Given the description of an element on the screen output the (x, y) to click on. 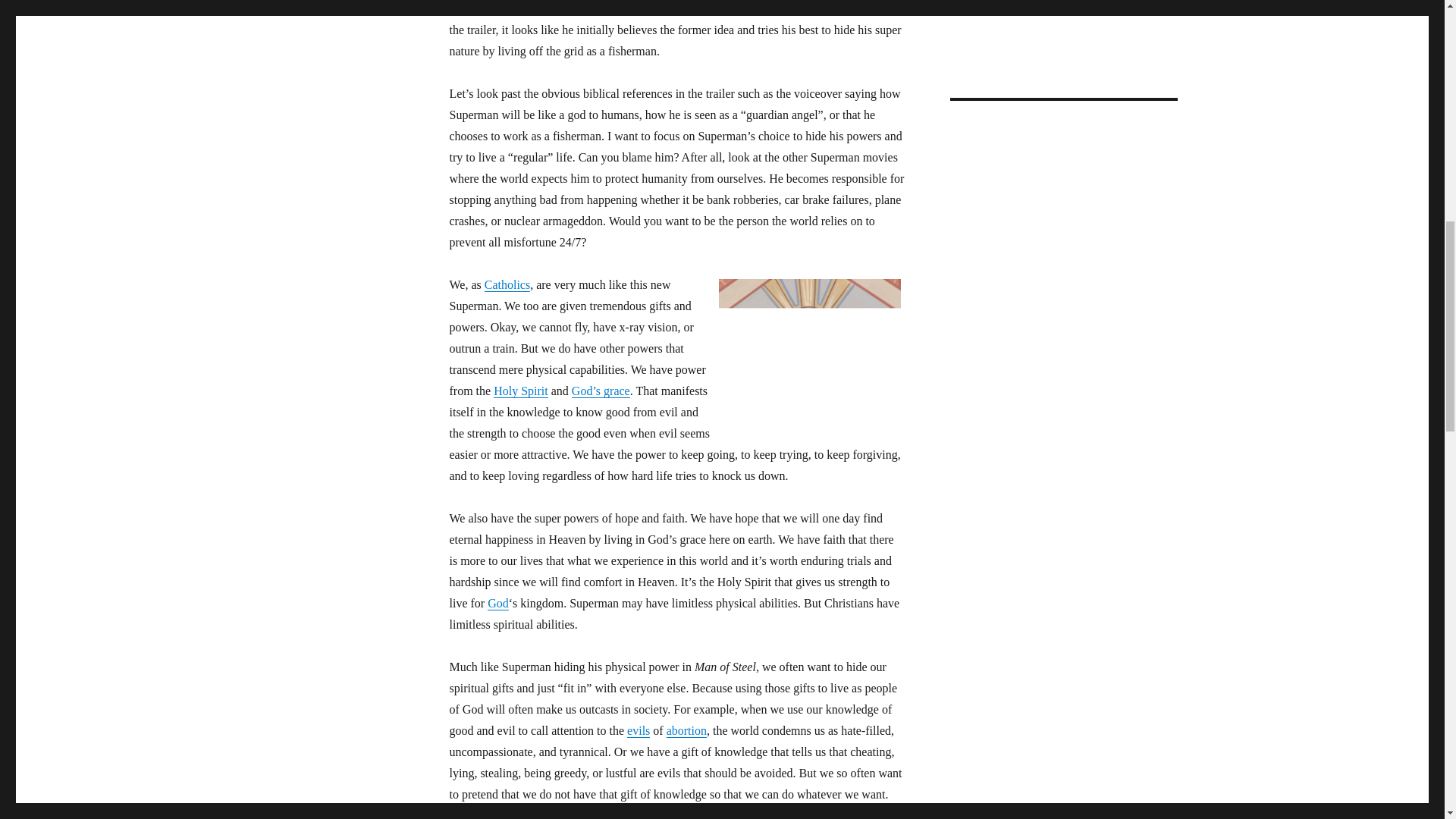
Holy Spirit (520, 390)
Catholic Church (506, 284)
evils (638, 730)
Evil (638, 730)
Holy Spirit (520, 390)
Divine grace (601, 390)
God (497, 603)
abortion (686, 730)
God (497, 603)
Holy Spirit painting (810, 349)
Catholics (506, 284)
